Given the description of an element on the screen output the (x, y) to click on. 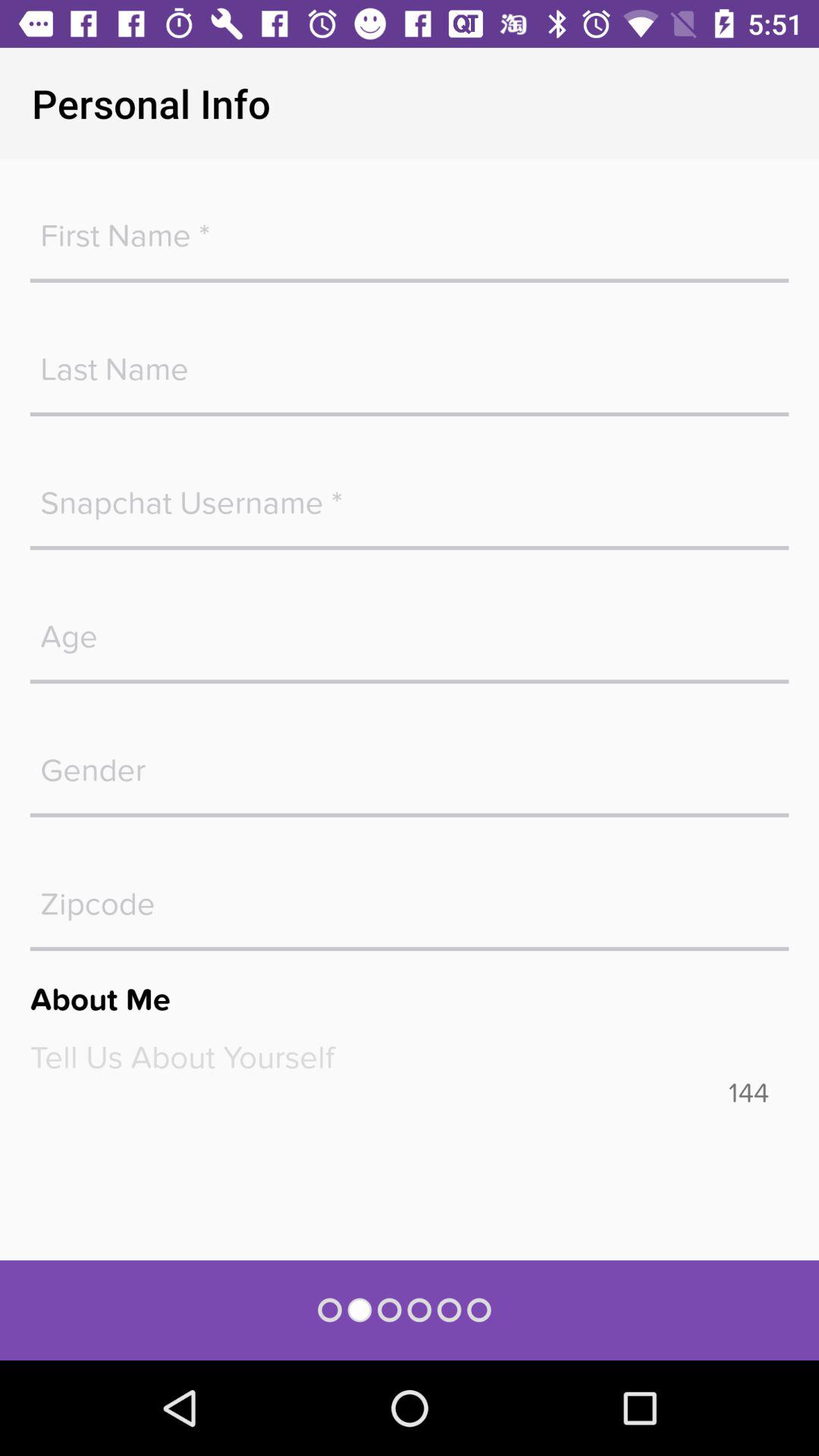
enter gender (409, 762)
